Given the description of an element on the screen output the (x, y) to click on. 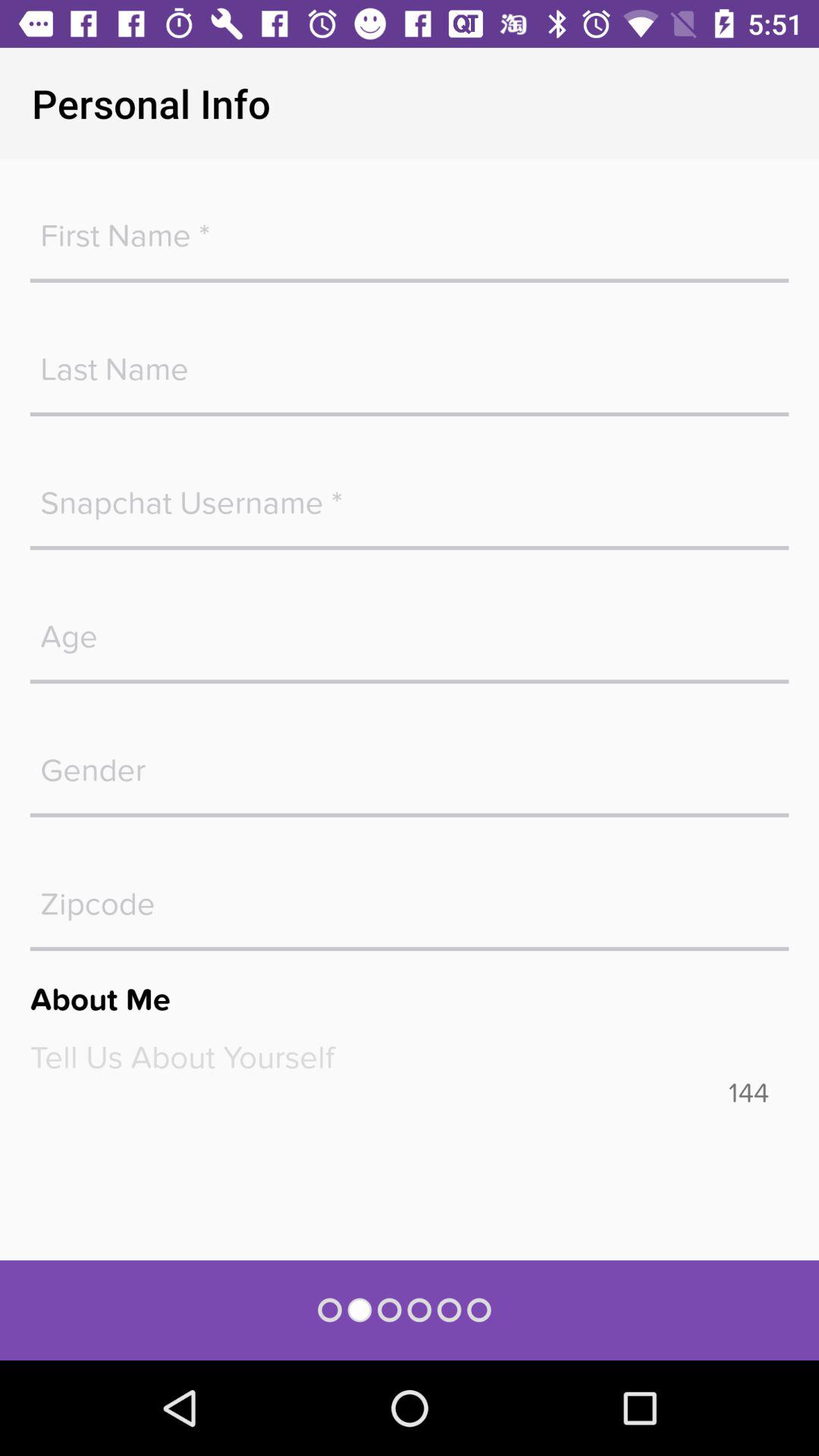
enter gender (409, 762)
